Given the description of an element on the screen output the (x, y) to click on. 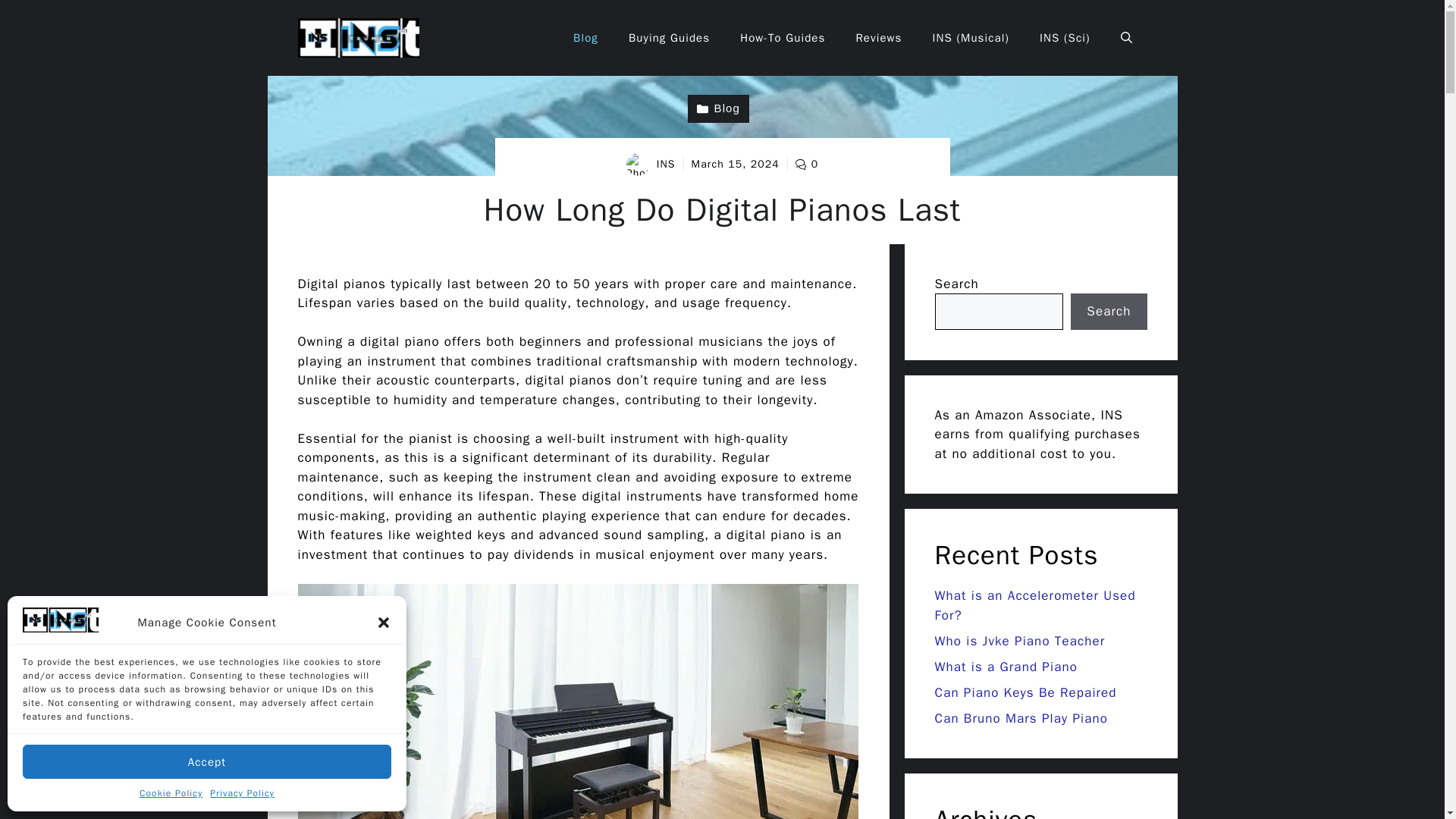
INS (665, 164)
Accept (207, 761)
Cookie Policy (170, 793)
How-To Guides (782, 37)
Blog (718, 108)
Buying Guides (668, 37)
Reviews (878, 37)
Privacy Policy (242, 793)
Blog (584, 37)
